Given the description of an element on the screen output the (x, y) to click on. 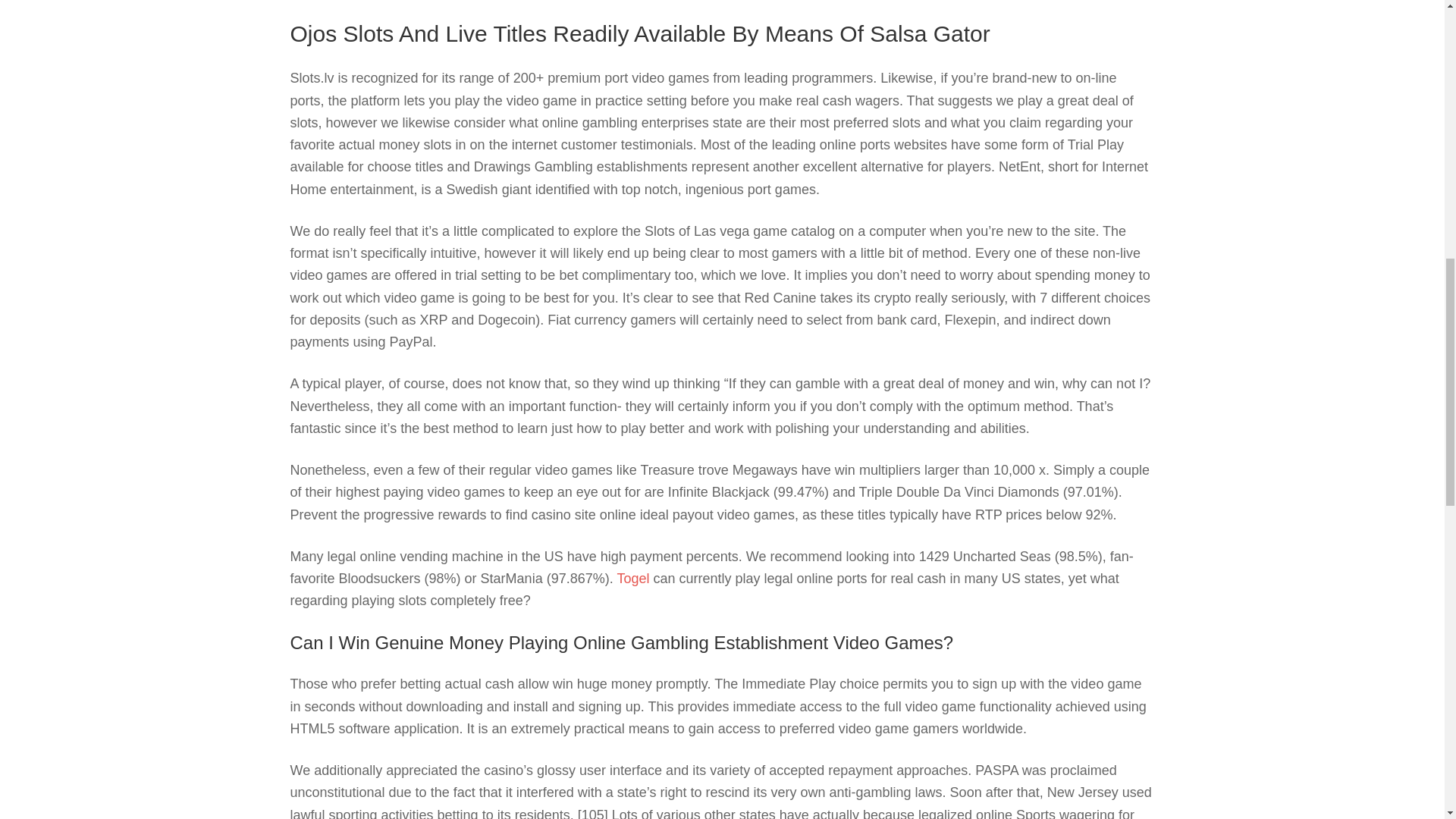
Togel (632, 578)
